Given the description of an element on the screen output the (x, y) to click on. 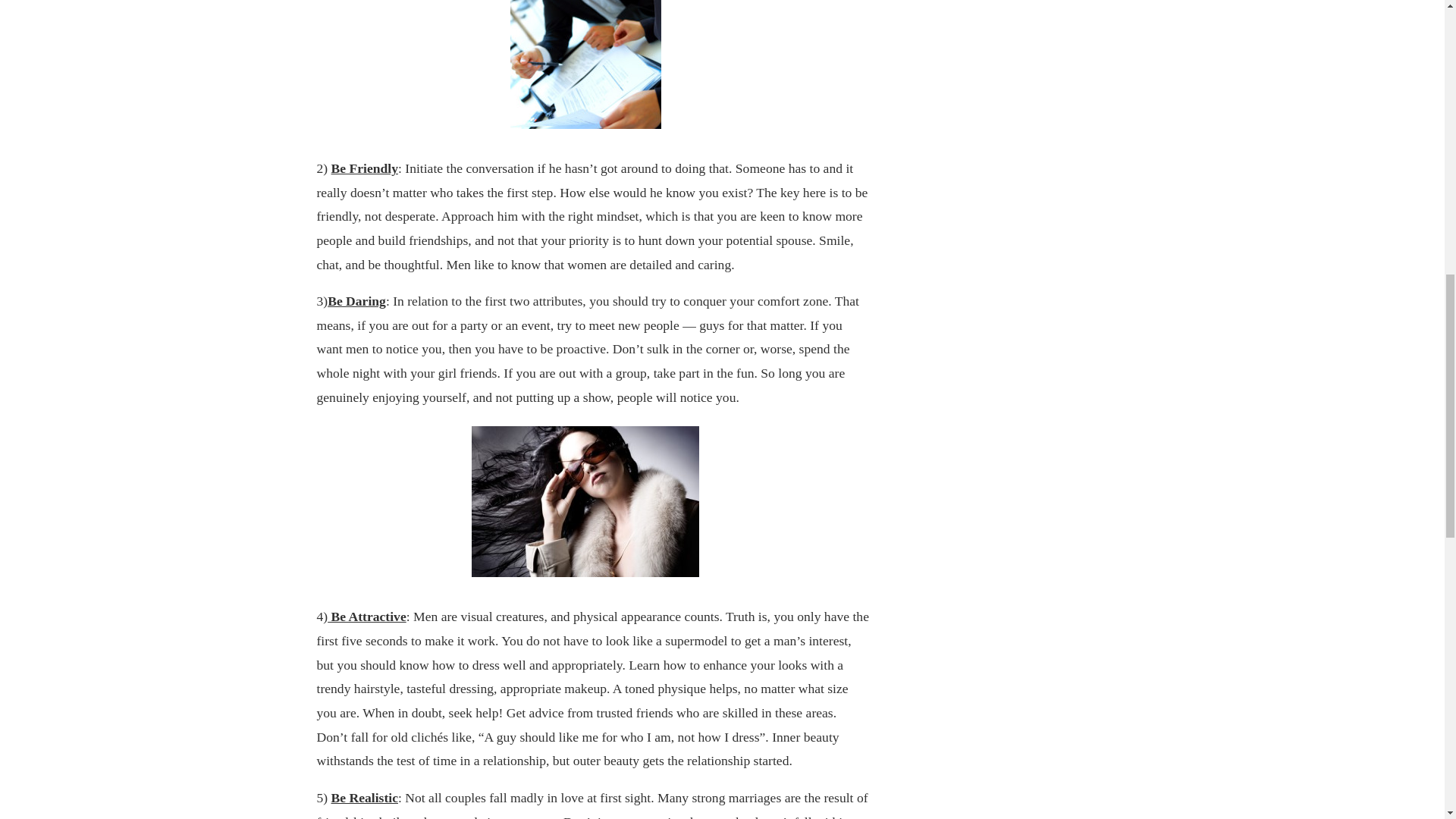
5 Ways To Get Him To Notice You (584, 501)
5 Ways To Get Him To Notice You (586, 64)
